Given the description of an element on the screen output the (x, y) to click on. 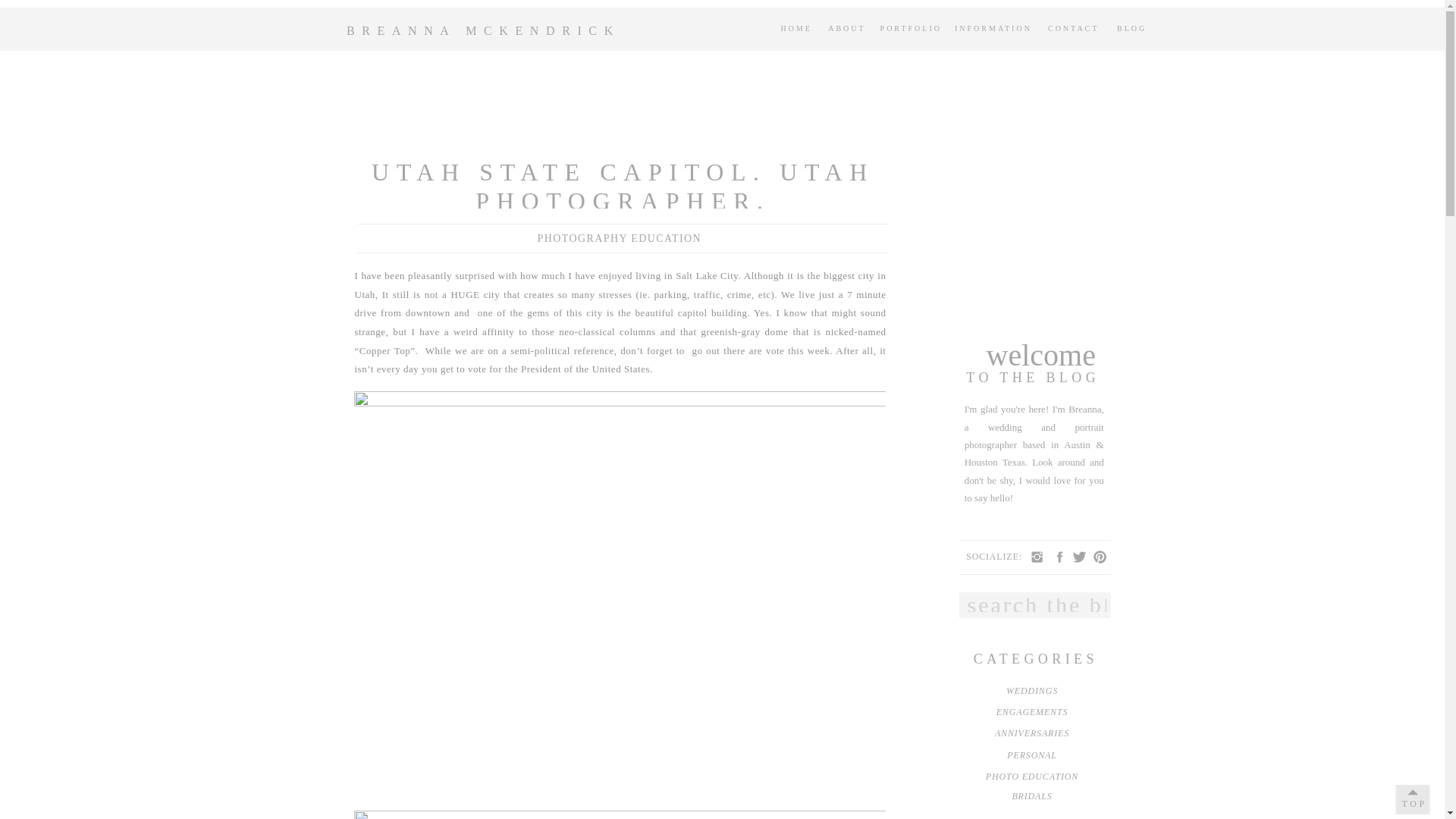
BLOG (1132, 29)
INFORMATION (992, 29)
PERSONAL (1031, 759)
 ABOUT  (845, 29)
WEDDINGS (1031, 694)
PHOTOGRAPHY EDUCATION (619, 238)
BRIDALS (1031, 800)
ENGAGEMENTS (1031, 715)
HOME (792, 29)
